Given the description of an element on the screen output the (x, y) to click on. 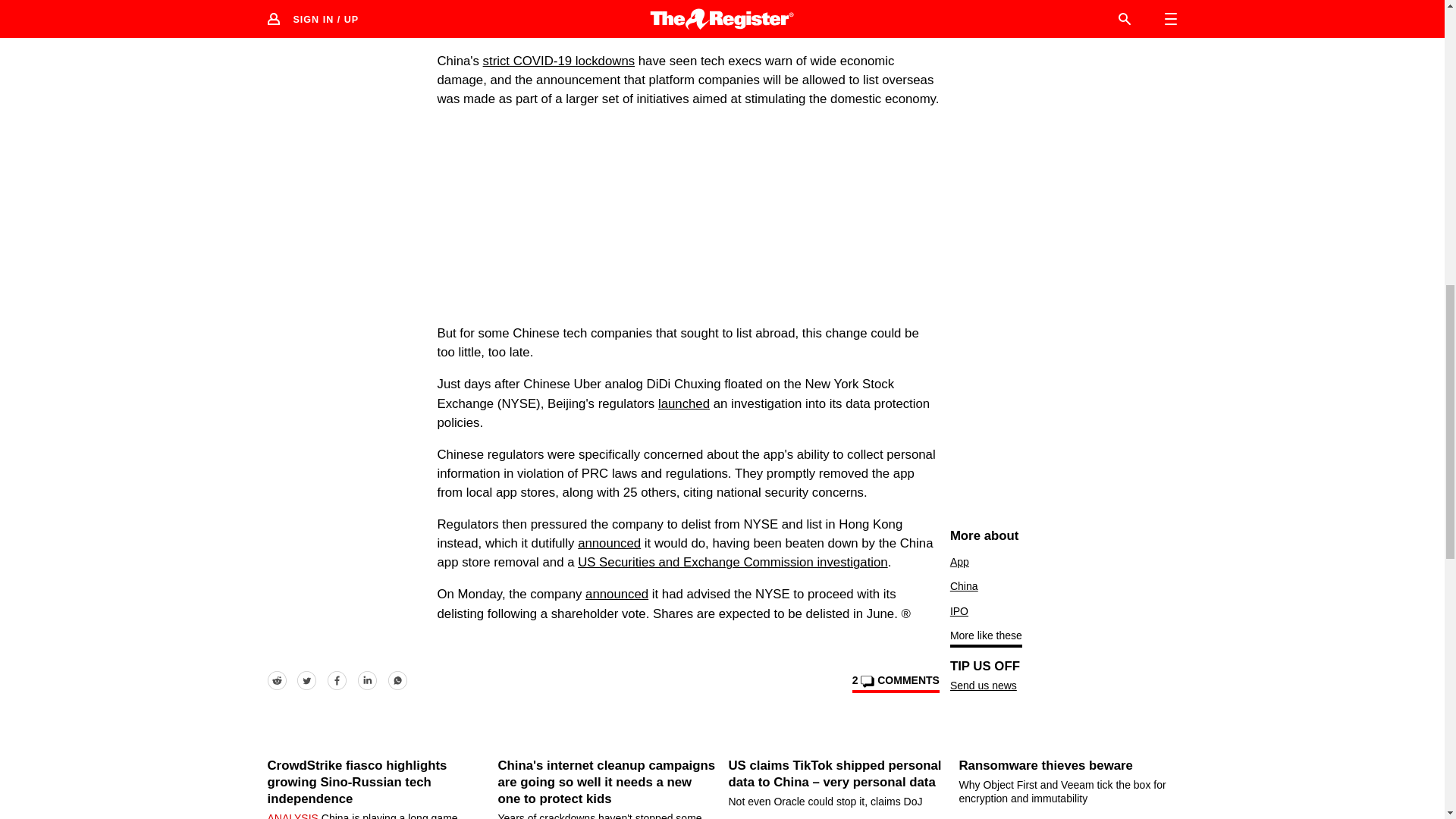
View comments on this article (895, 683)
